Given the description of an element on the screen output the (x, y) to click on. 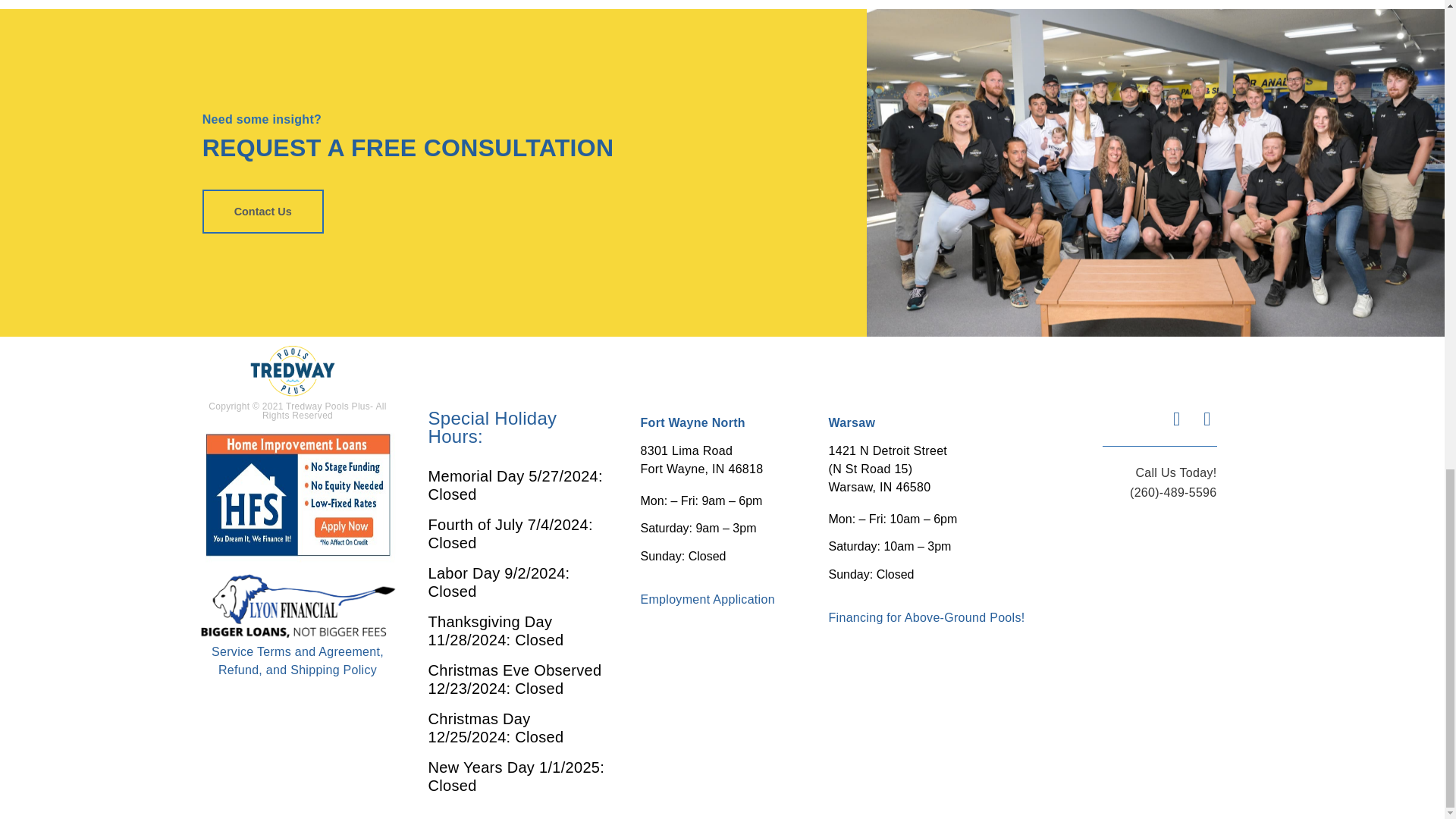
Contact Us (262, 211)
